Given the description of an element on the screen output the (x, y) to click on. 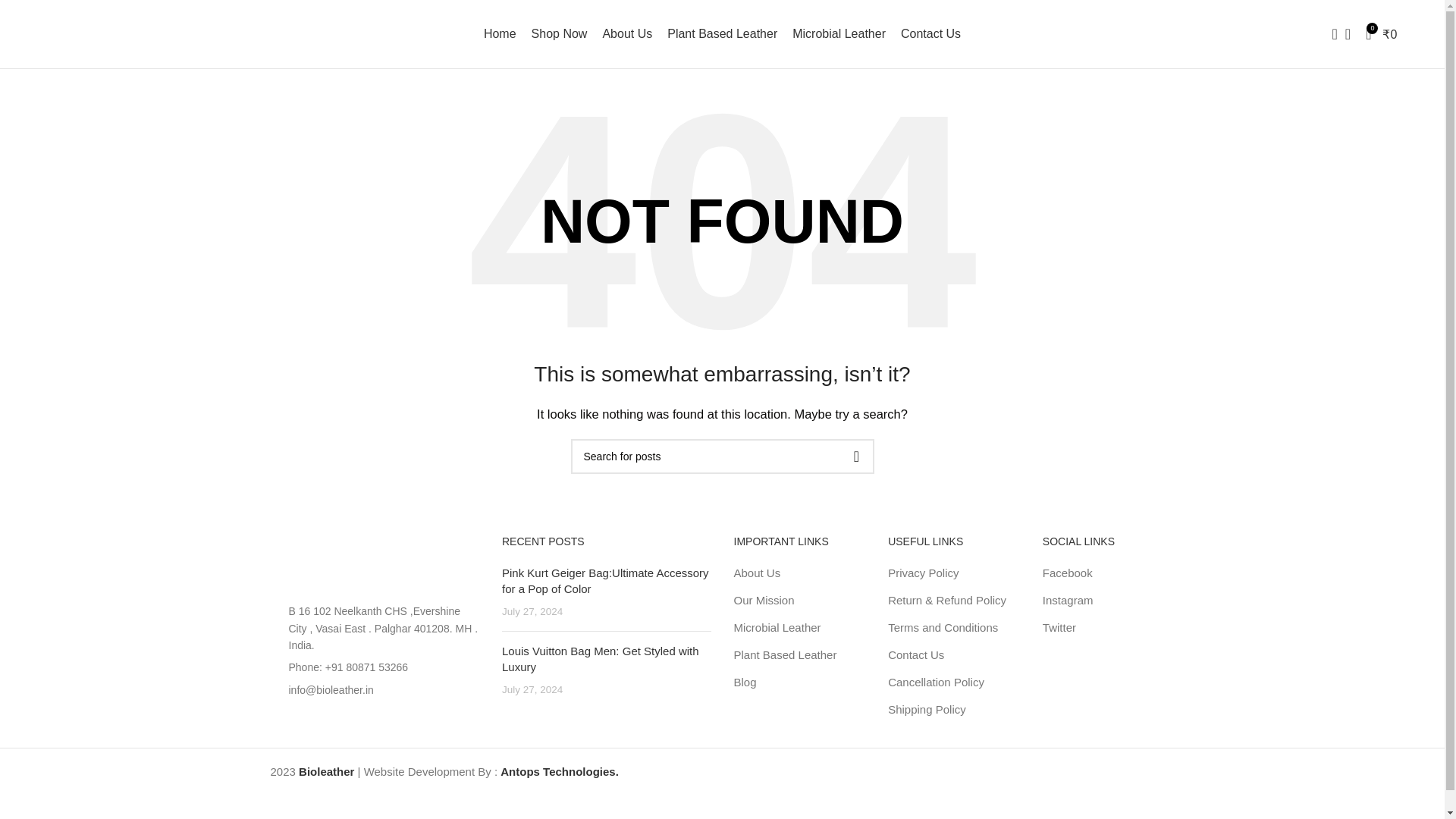
Shop Now (559, 33)
Shipping Policy (928, 709)
Plant Based Leather (785, 654)
wd-phone-dark (275, 666)
Pink Kurt Geiger Bag:Ultimate Accessory for a Pop of Color (605, 580)
Louis Vuitton Bag Men: Get Styled with Luxury (600, 658)
About Us (758, 572)
Search (1330, 33)
Blog (745, 682)
Microbial Leather (777, 627)
Microbial Leather (838, 33)
Our Mission (764, 600)
Contact Us (916, 654)
wd-envelope-dark (275, 689)
